Given the description of an element on the screen output the (x, y) to click on. 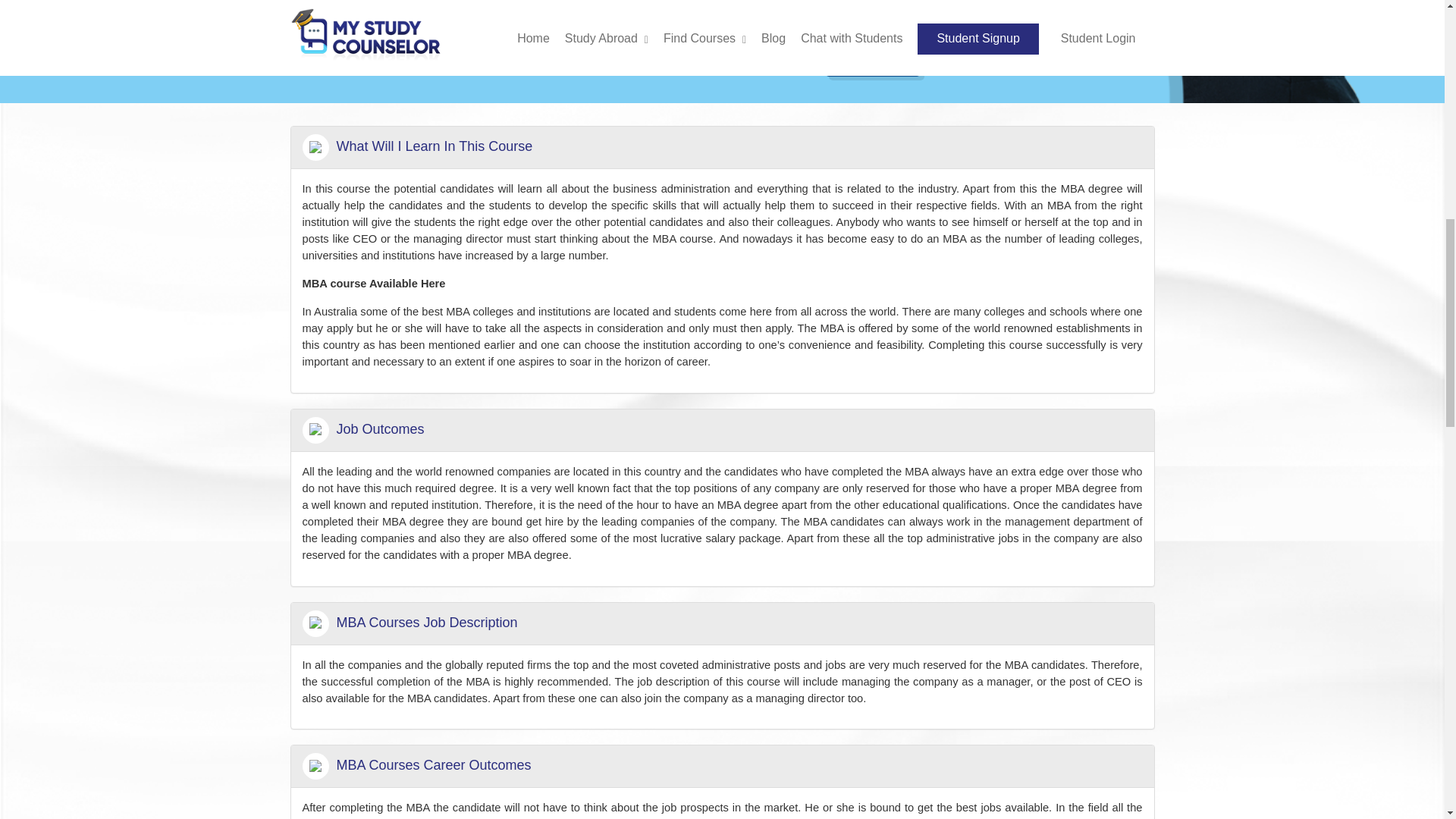
Enquire Now (872, 60)
